Given the description of an element on the screen output the (x, y) to click on. 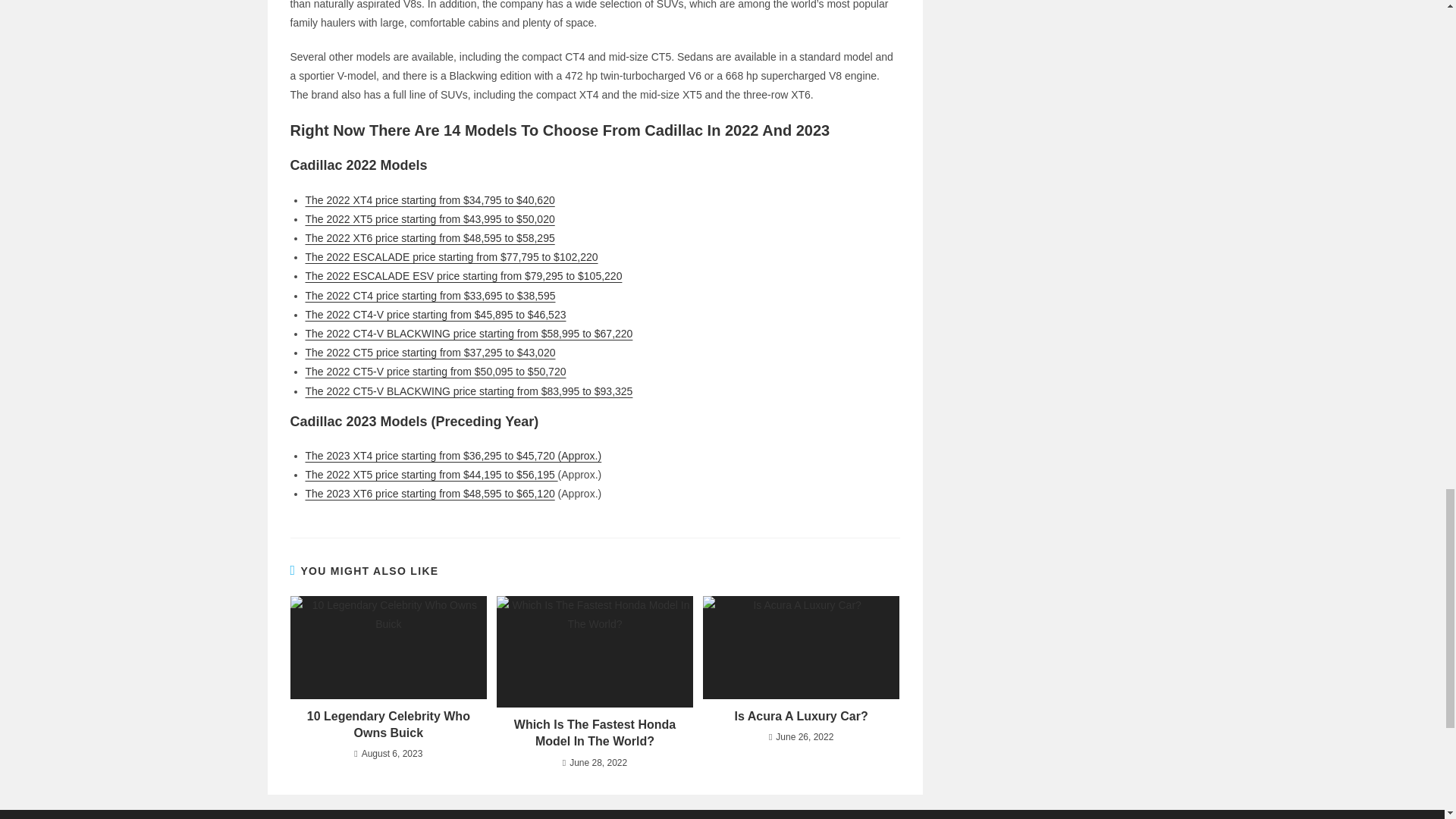
10 Legendary Celebrity Who Owns Buick (387, 725)
